Given the description of an element on the screen output the (x, y) to click on. 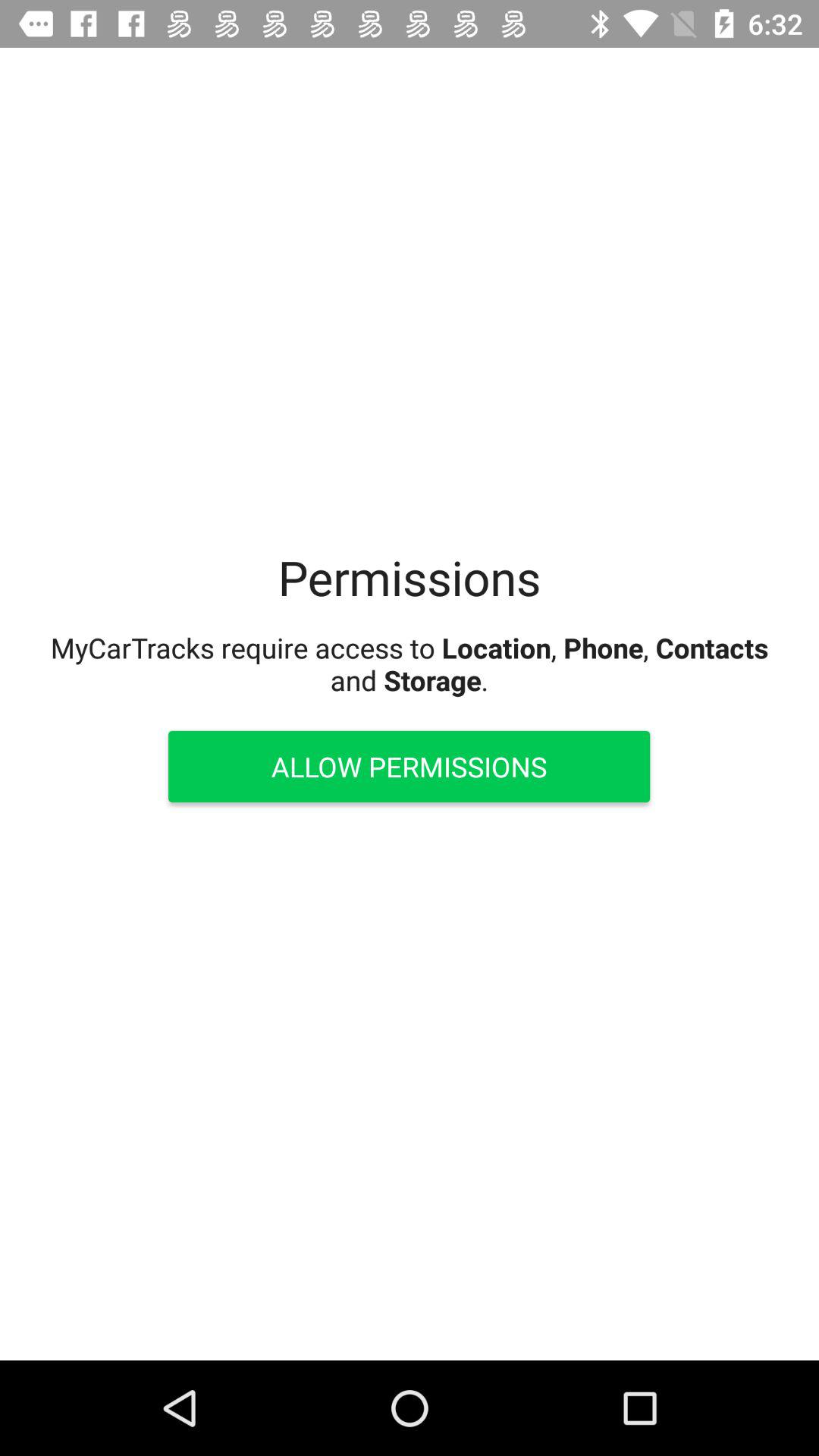
jump to allow permissions icon (409, 766)
